Given the description of an element on the screen output the (x, y) to click on. 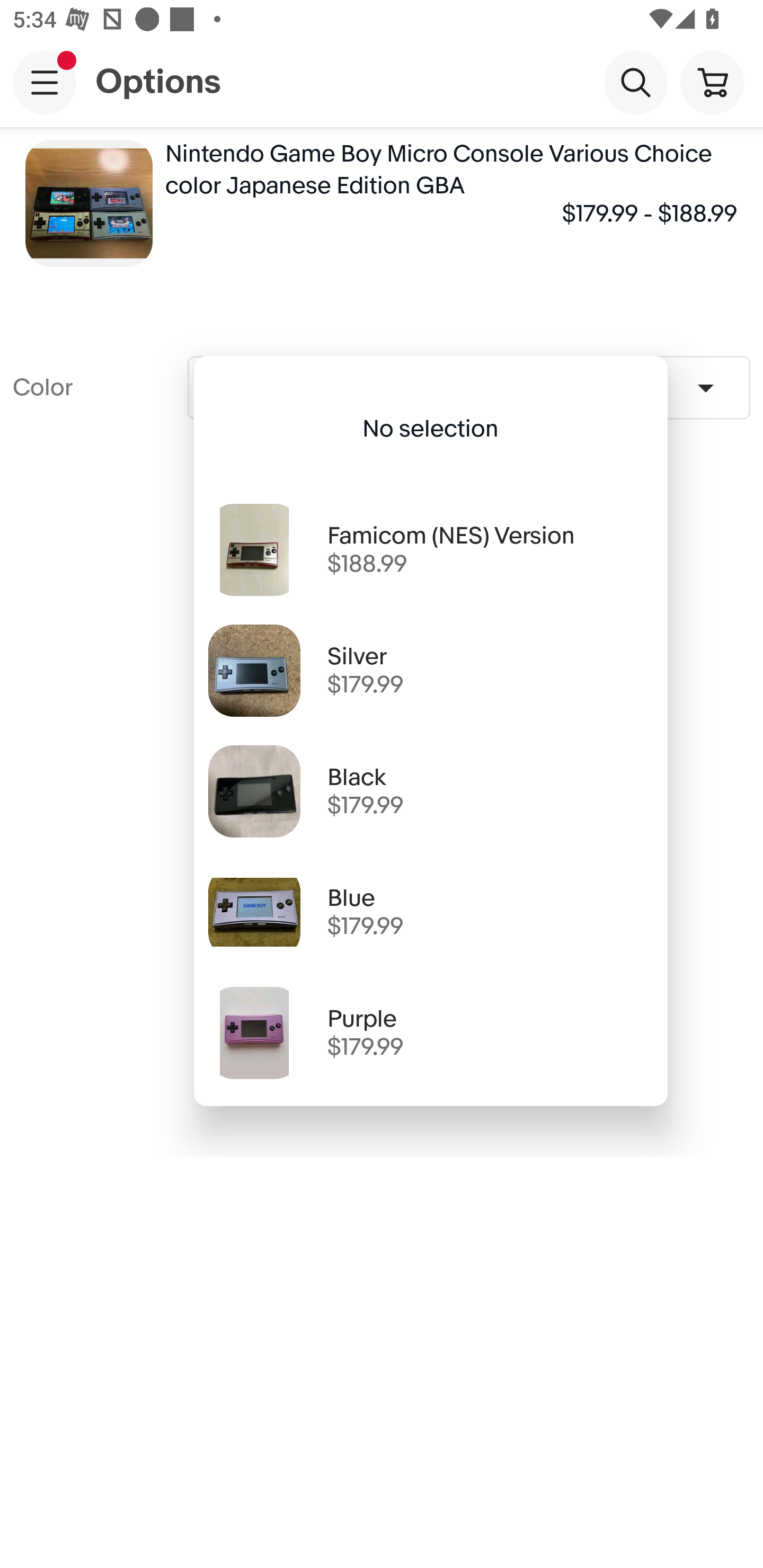
No selection (430, 428)
Famicom (NES) Version $188.99 $188.99 (430, 549)
Silver $179.99 $179.99 (430, 669)
Black $179.99 $179.99 (430, 790)
Blue $179.99 $179.99 (430, 911)
Purple $179.99 $179.99 (430, 1032)
